Given the description of an element on the screen output the (x, y) to click on. 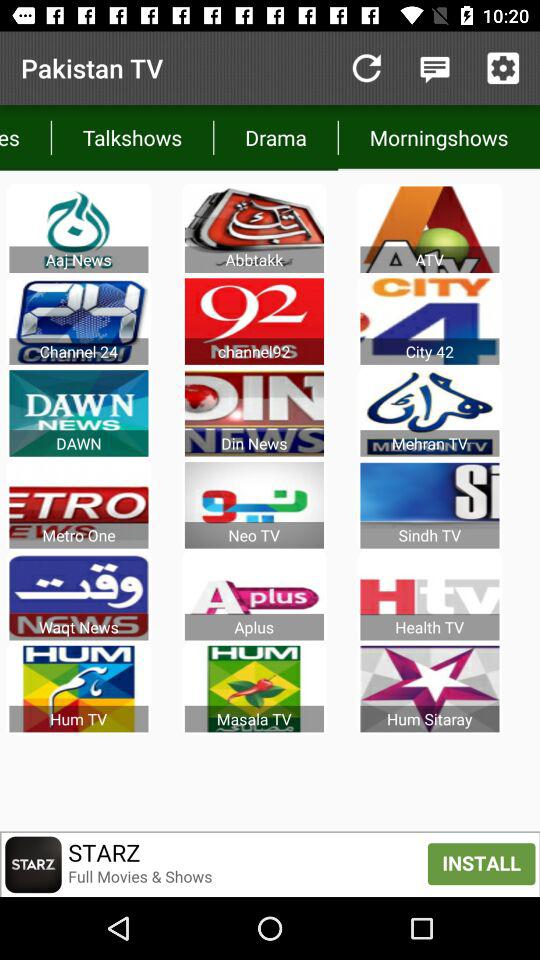
settings (503, 67)
